Given the description of an element on the screen output the (x, y) to click on. 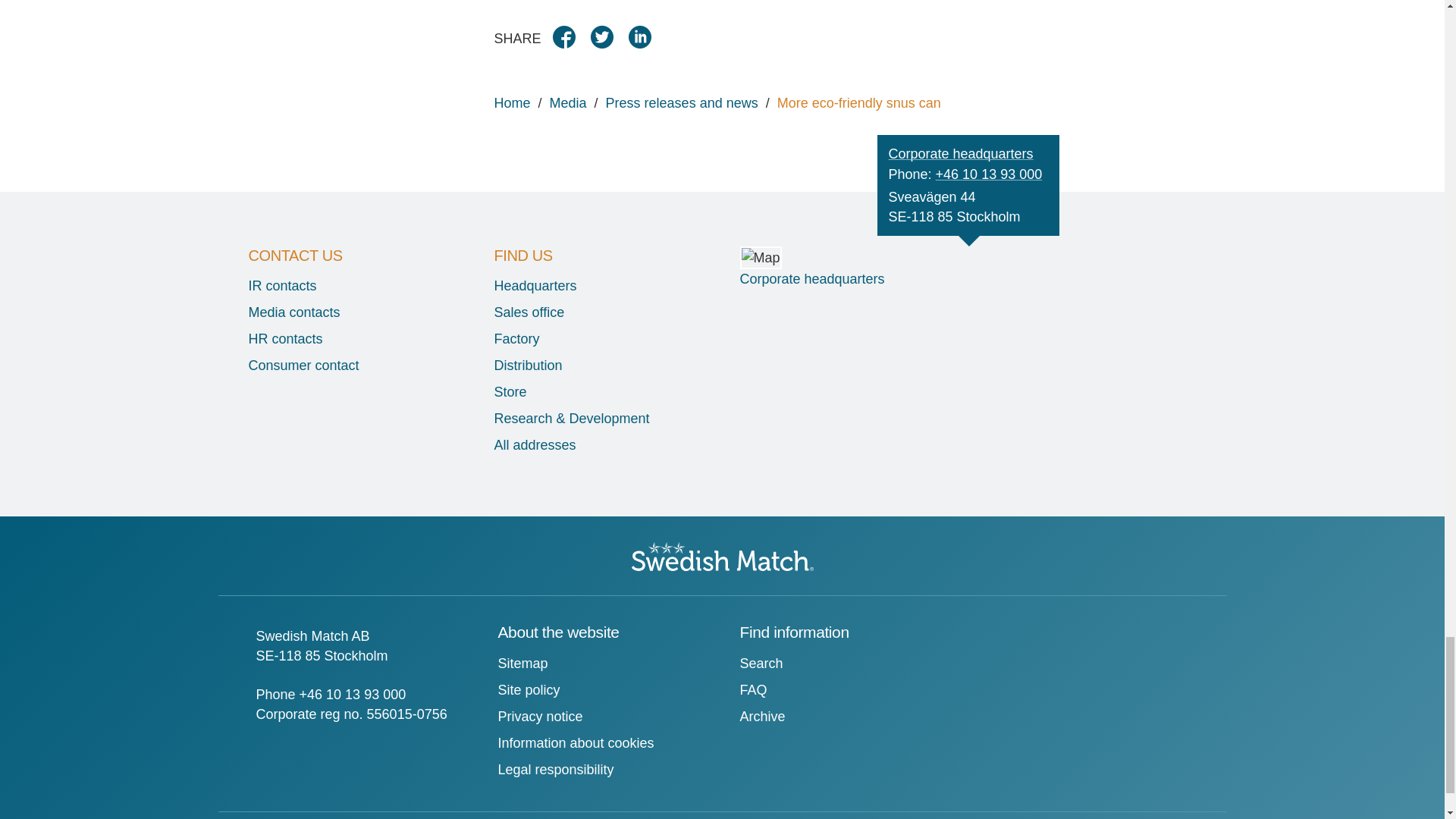
facebook (569, 42)
LinkedIn (645, 42)
Twitter (607, 42)
